Given the description of an element on the screen output the (x, y) to click on. 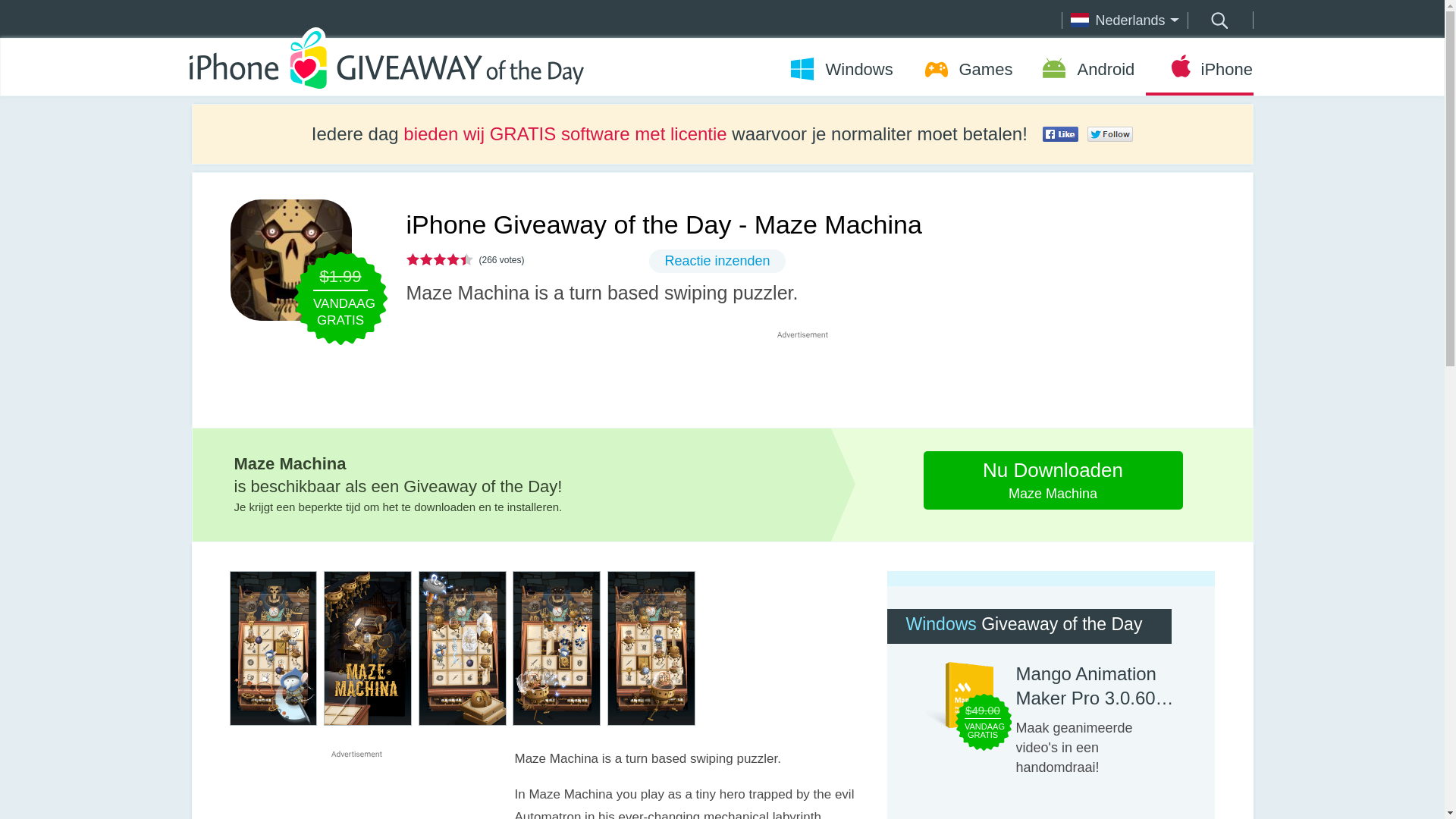
Advertisement (810, 378)
Advertisement (355, 789)
Like (1060, 133)
Android (1083, 69)
Games (963, 69)
Like (1109, 133)
Zoeken (1218, 20)
Reactie inzenden (716, 260)
iPhone (1198, 69)
Zoeken (1218, 20)
Mango Animation Maker Pro 3.0.606 for Win (1096, 685)
Windows (1052, 480)
